Given the description of an element on the screen output the (x, y) to click on. 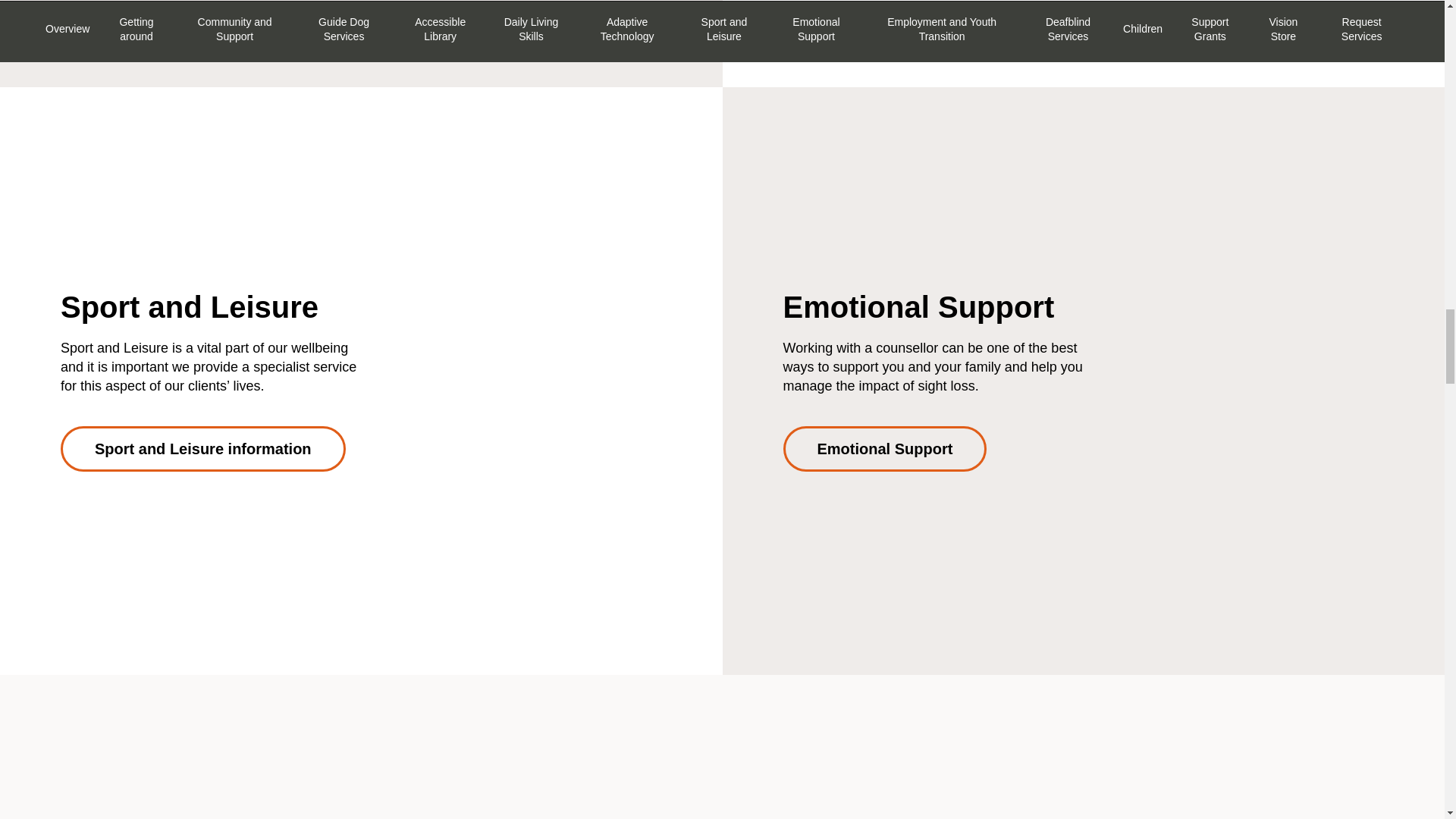
Blind Low Vision NZ - ESE - Employment Readiness (1083, 792)
